Given the description of an element on the screen output the (x, y) to click on. 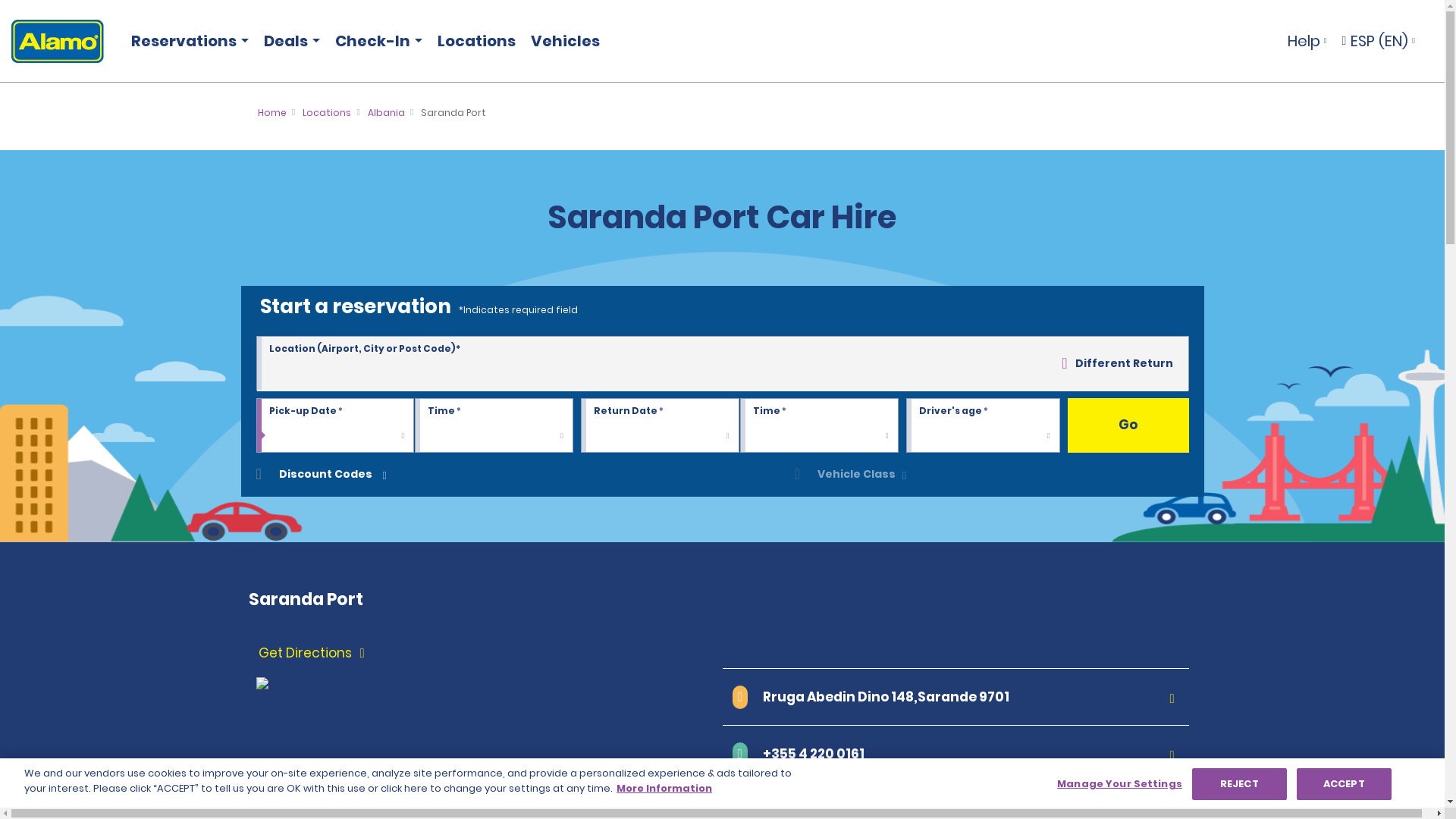
Home (271, 112)
Get Directions (489, 653)
Check-In (374, 40)
Go (1128, 425)
Albania (386, 112)
Different Return (1116, 363)
Vehicles (564, 40)
Deals (288, 40)
Reservations (185, 40)
Locations (475, 40)
Locations (326, 112)
Help (1307, 40)
Rruga Abedin Dino 148,Sarande 9701 (955, 696)
